Given the description of an element on the screen output the (x, y) to click on. 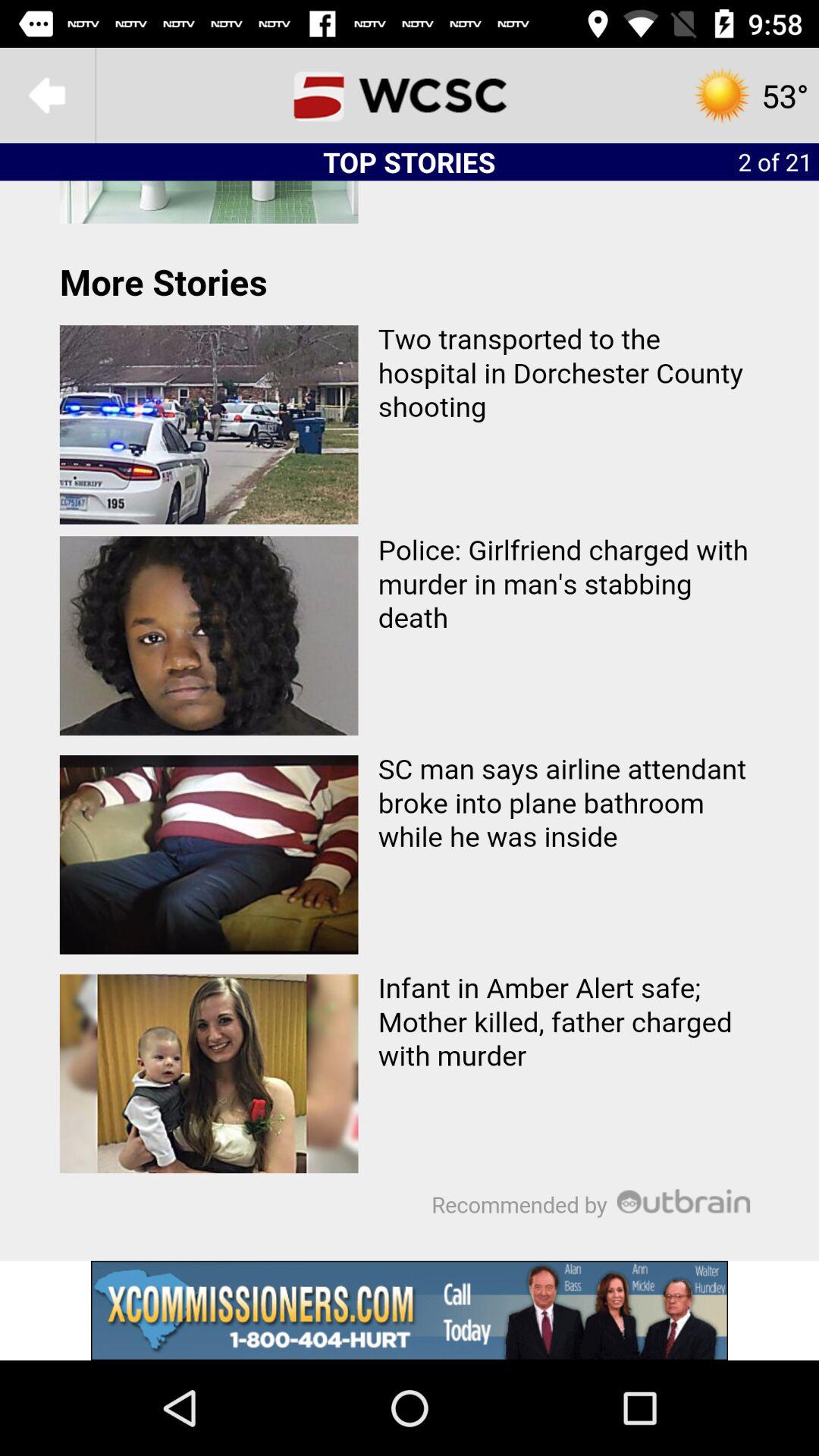
choose icon to the left of the 2 of 21 icon (409, 95)
